Given the description of an element on the screen output the (x, y) to click on. 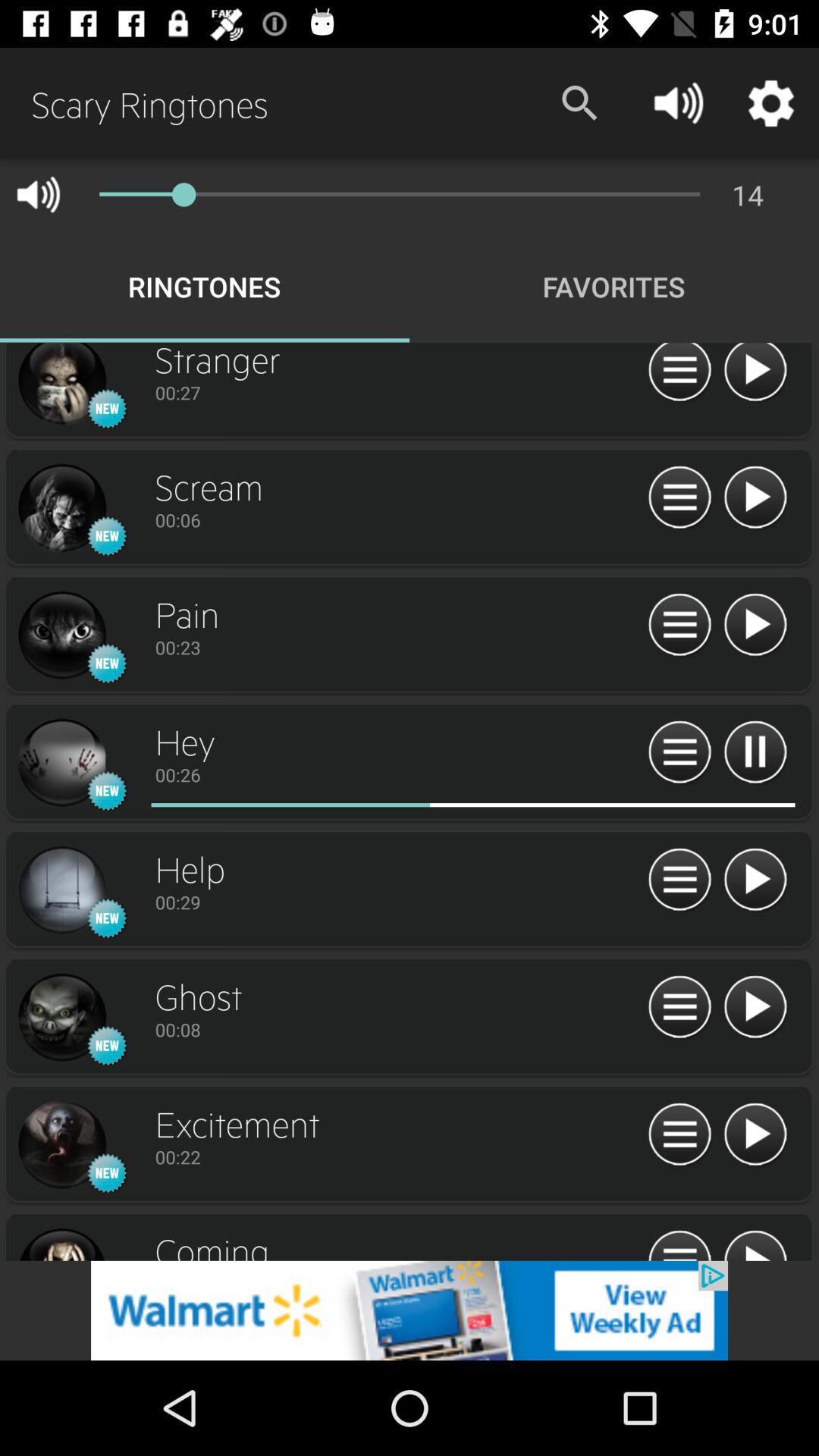
go to play option (755, 880)
